Given the description of an element on the screen output the (x, y) to click on. 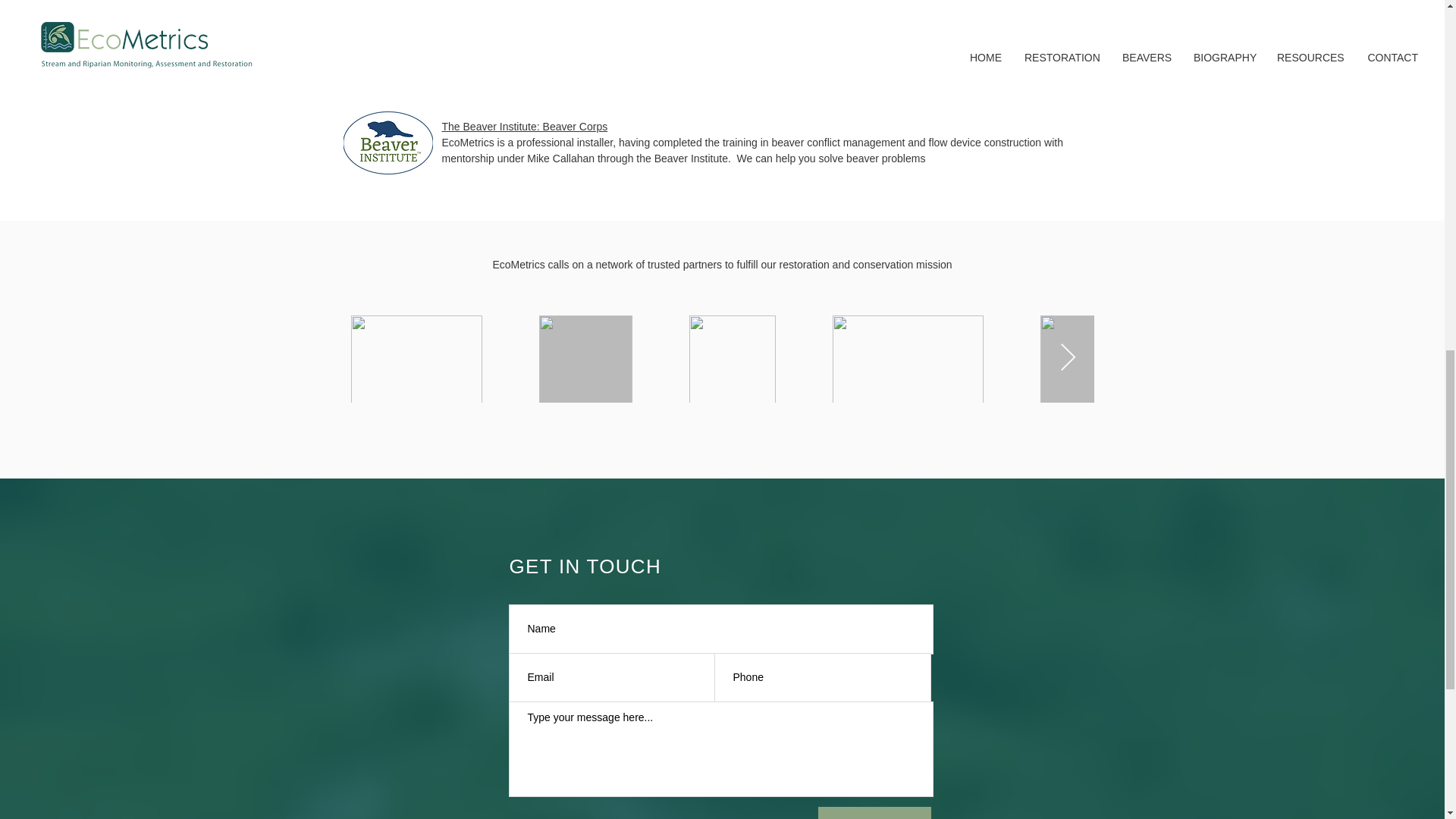
Low-tech Process-based Restoration of Riverscapes (564, 19)
The Beaver Institute: Beaver Corps (524, 126)
Submit (873, 812)
